Given the description of an element on the screen output the (x, y) to click on. 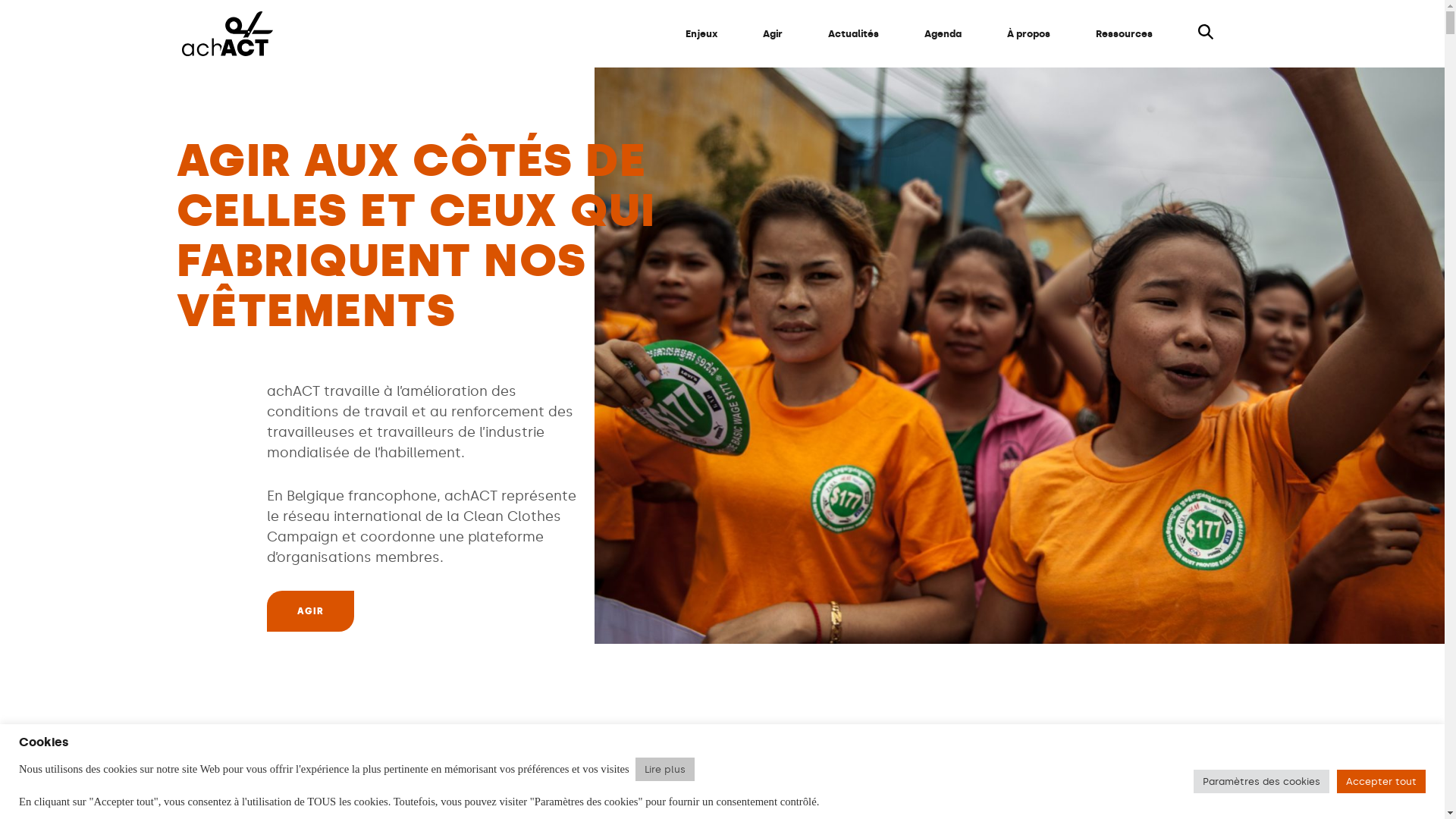
Enjeux Element type: text (701, 33)
Agenda Element type: text (942, 33)
Agir Element type: text (772, 33)
Ressources Element type: text (1123, 33)
Lire plus Element type: text (664, 769)
Accepter tout Element type: text (1380, 780)
AGIR Element type: text (310, 610)
